Given the description of an element on the screen output the (x, y) to click on. 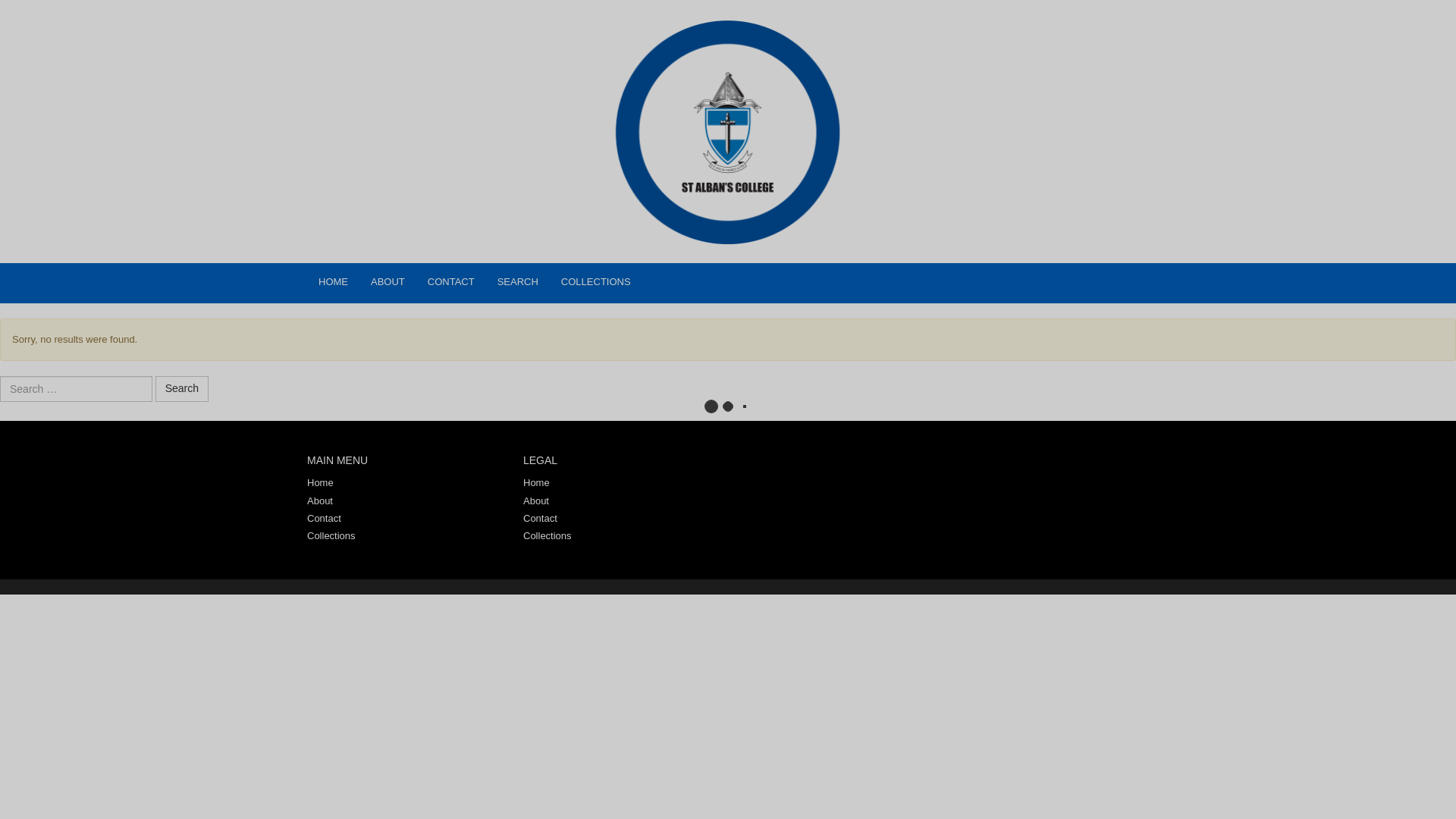
About (320, 500)
Contact (451, 281)
Collections (547, 535)
CONTACT (451, 281)
About (387, 281)
HOME (333, 281)
ABOUT (387, 281)
Contact (539, 518)
Home (536, 482)
Search (181, 388)
Contact (323, 518)
Collections (596, 281)
COLLECTIONS (596, 281)
About (535, 500)
Collections (331, 535)
